Given the description of an element on the screen output the (x, y) to click on. 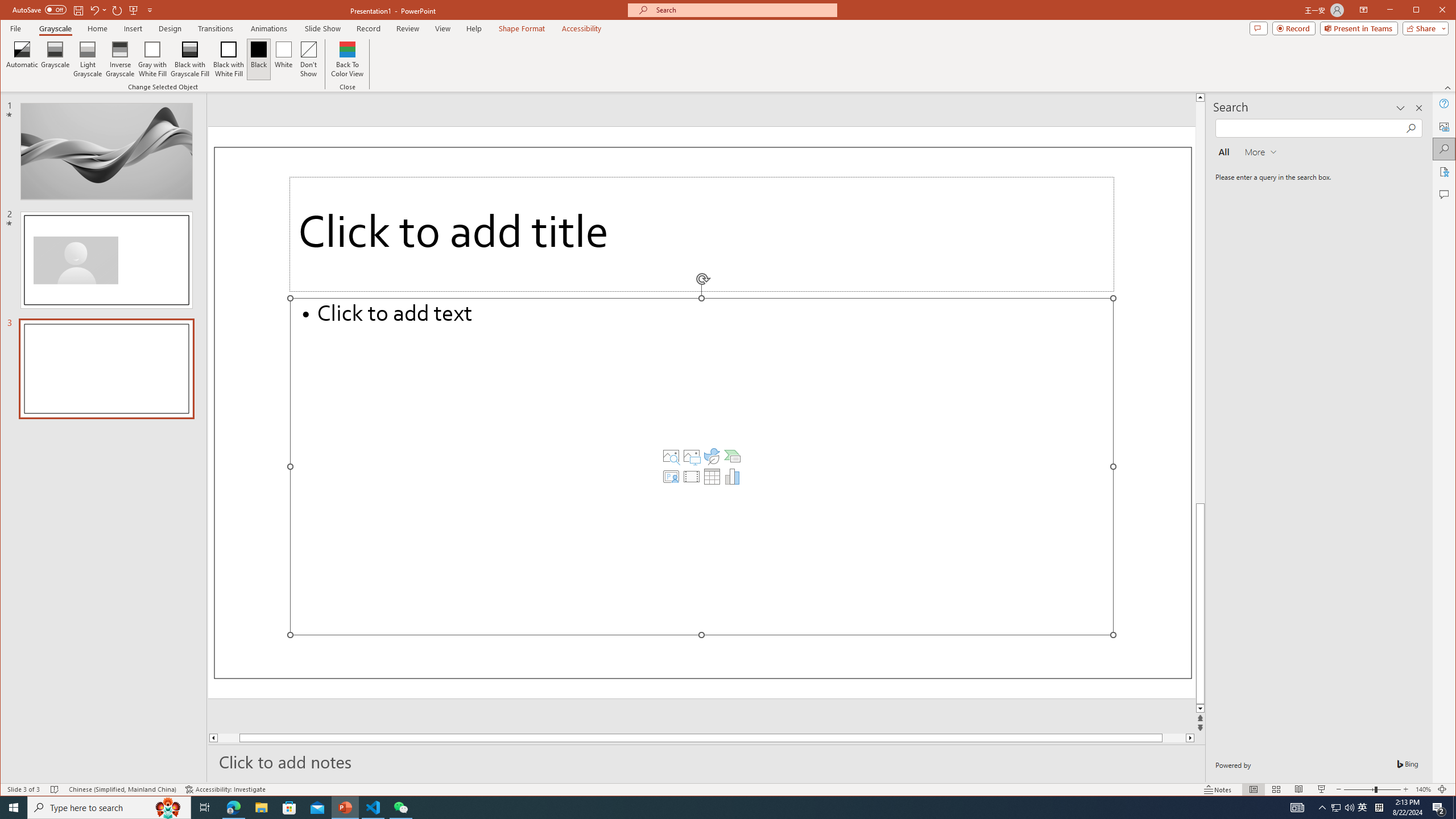
Review (407, 28)
Close (1444, 11)
Inverse Grayscale (119, 59)
Accessibility (1444, 171)
Grayscale (55, 28)
Design (170, 28)
Present in Teams (1358, 28)
Animations (269, 28)
Microsoft Store (289, 807)
Save (77, 9)
Slide Show (1321, 789)
Content Placeholder (701, 466)
AutoSave (38, 9)
White (283, 59)
Search (1444, 148)
